Given the description of an element on the screen output the (x, y) to click on. 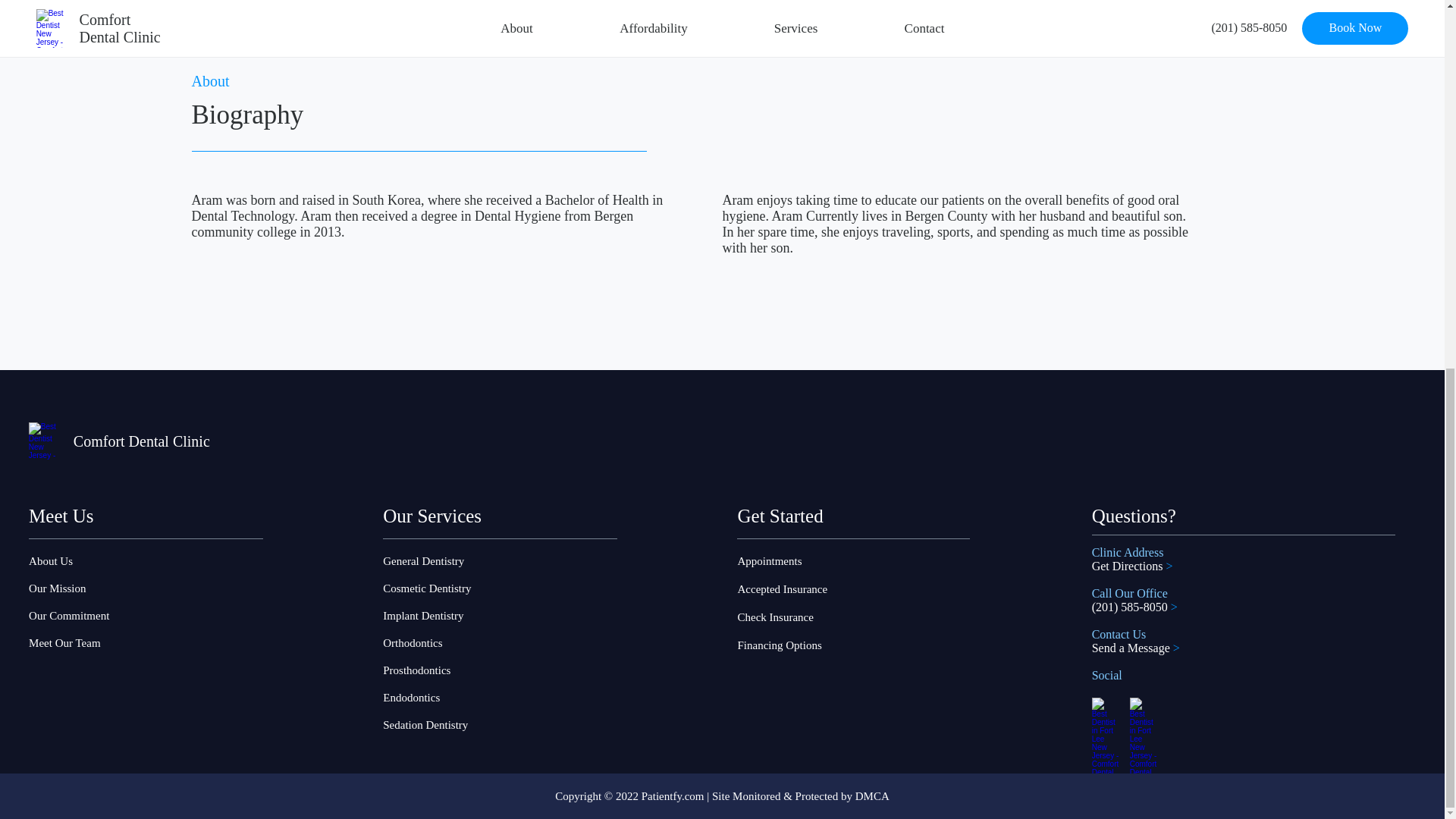
About Us (104, 561)
Financing Options (812, 645)
Our Commitment (104, 616)
Cosmetic Dentistry (440, 588)
Check Insurance (812, 617)
Accepted Insurance (812, 588)
Our Mission (104, 588)
Meet Our Team (104, 643)
Implant Dentistry (440, 616)
Appointments (812, 561)
